Given the description of an element on the screen output the (x, y) to click on. 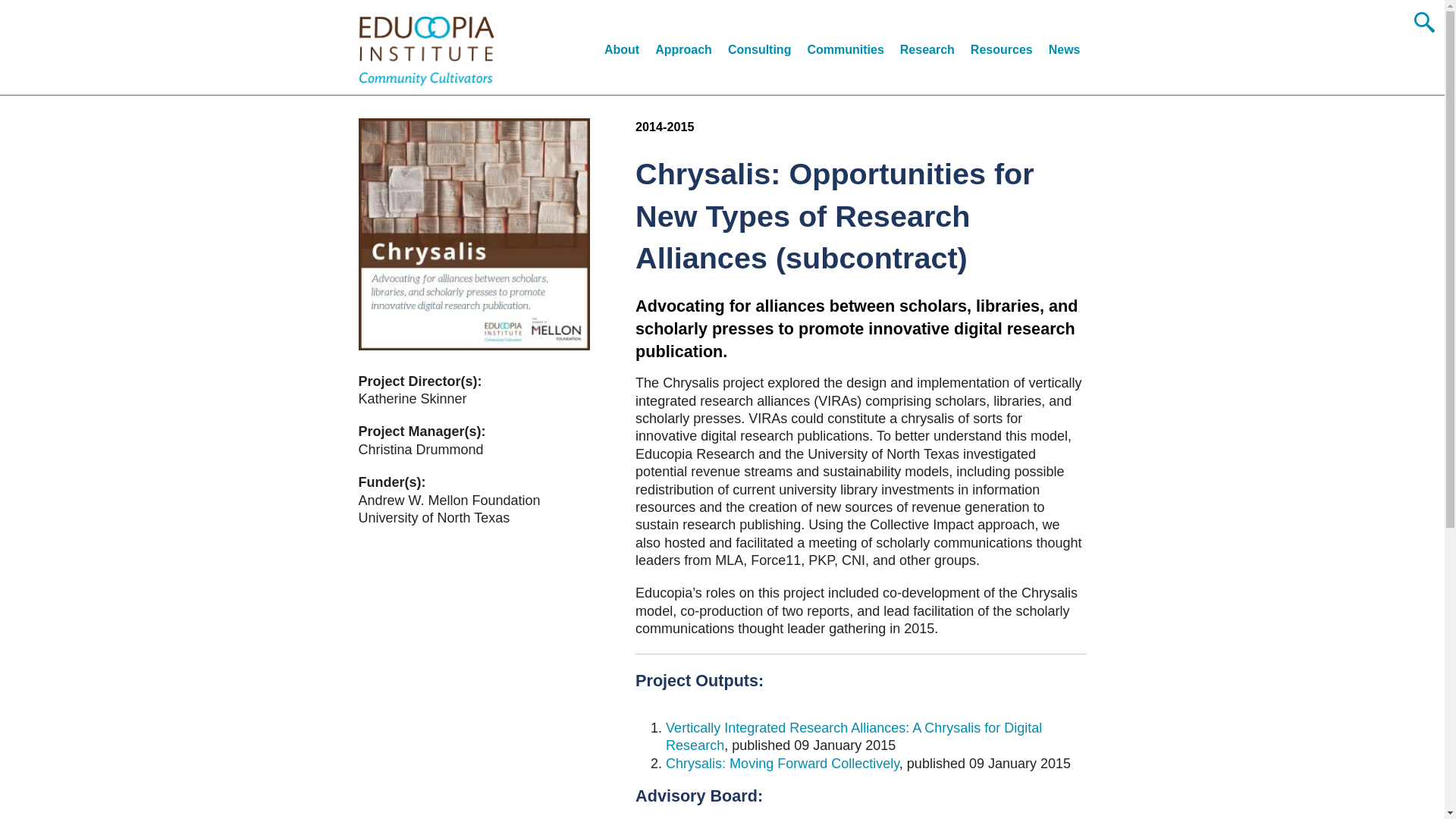
Chrysalis: Moving Forward Collectively (782, 763)
About (621, 51)
Resources (1001, 51)
Research (927, 51)
News (1063, 51)
Search (19, 13)
Home (426, 50)
Consulting (759, 51)
Educopia Institute (426, 50)
Approach (683, 51)
Communities (845, 51)
